Given the description of an element on the screen output the (x, y) to click on. 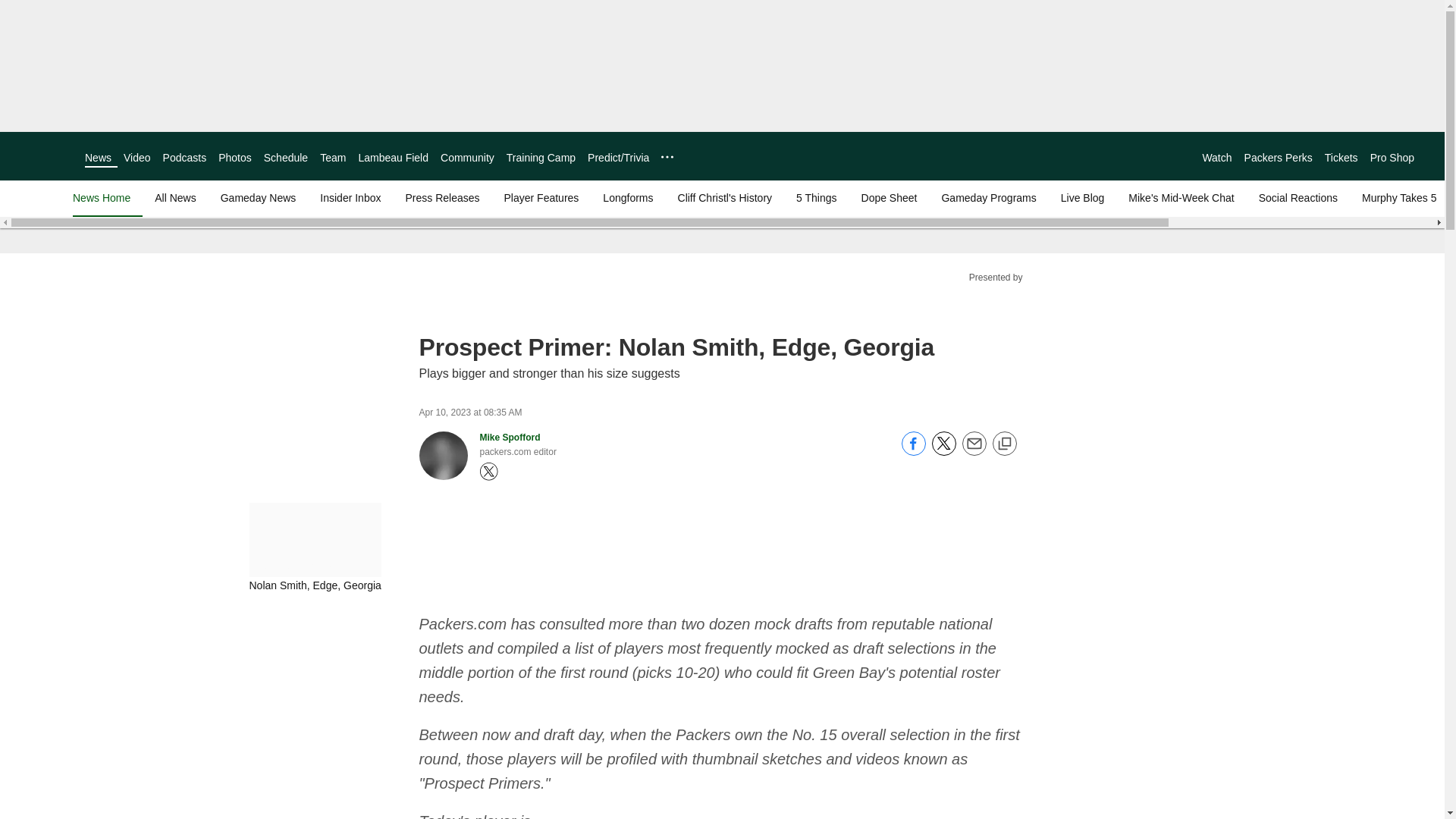
Community (468, 157)
Photos (234, 157)
Press Releases (441, 197)
Schedule (285, 157)
Community (468, 157)
... (666, 156)
Tickets (1341, 157)
Cliff Christl's History (724, 197)
Lambeau Field (393, 157)
News (98, 157)
